Given the description of an element on the screen output the (x, y) to click on. 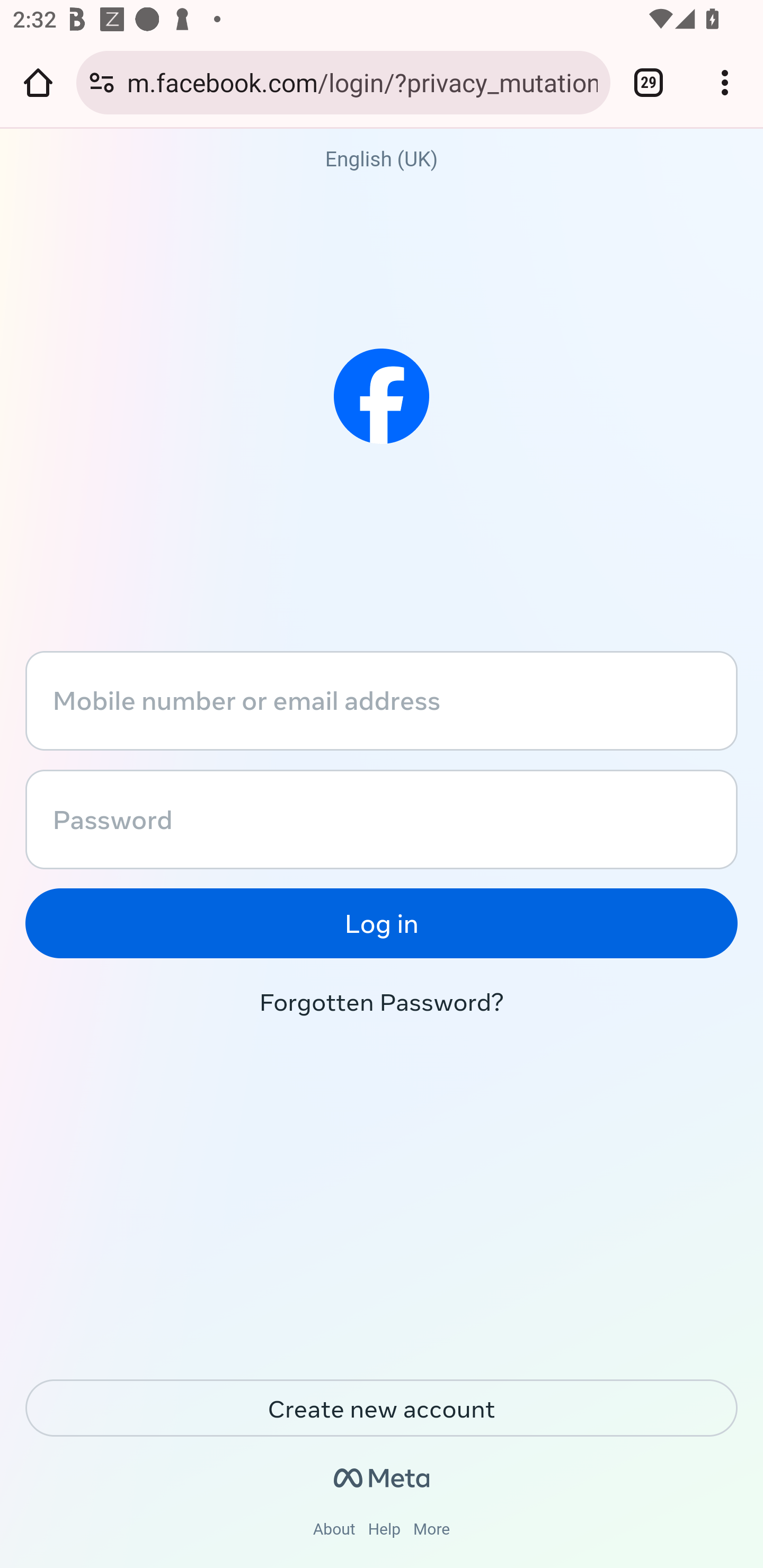
Open the home page (38, 82)
Connection is secure (101, 82)
Switch or close tabs (648, 82)
Customize and control Google Chrome (724, 82)
